Given the description of an element on the screen output the (x, y) to click on. 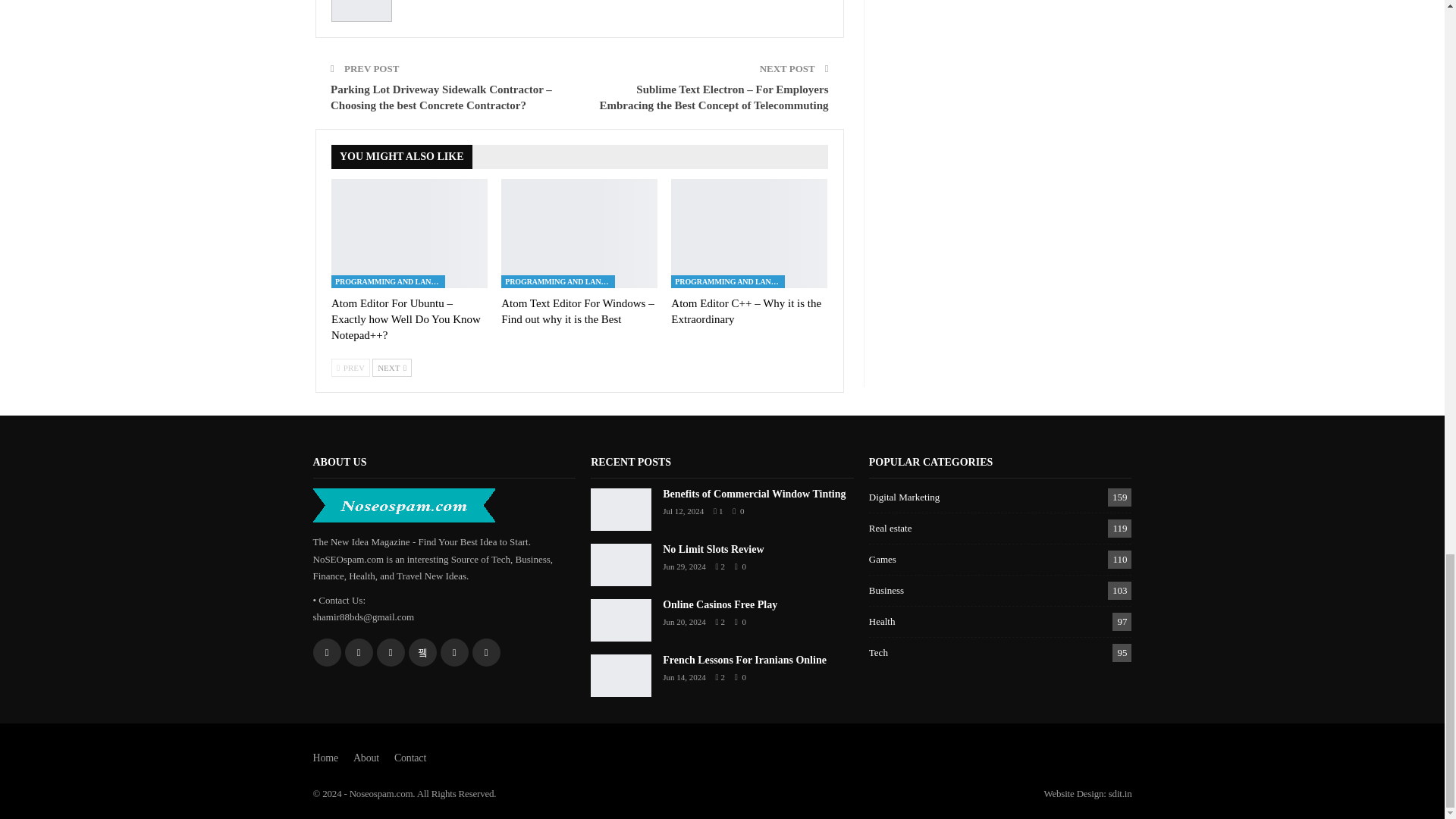
Previous (350, 367)
Next (392, 367)
